Given the description of an element on the screen output the (x, y) to click on. 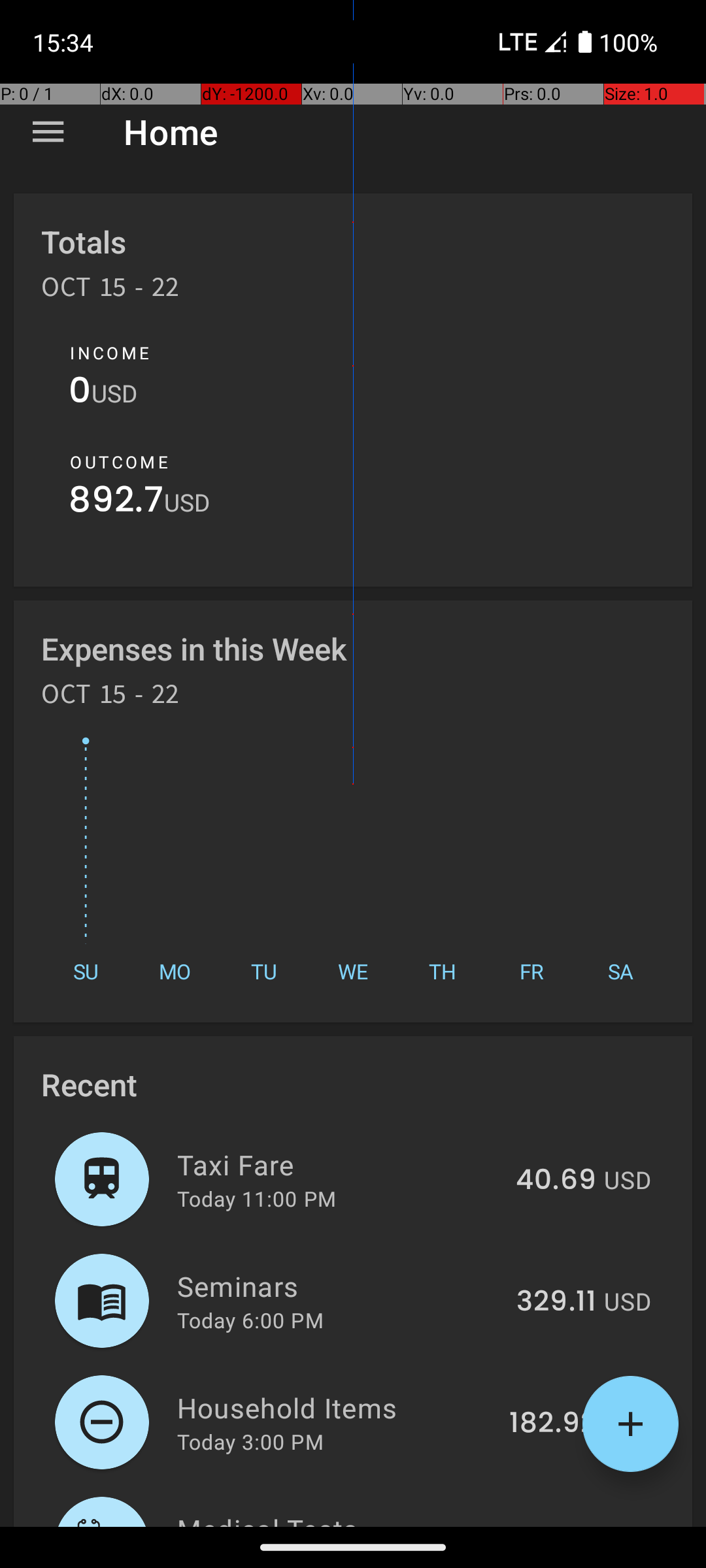
892.7 Element type: android.widget.TextView (116, 502)
Taxi Fare Element type: android.widget.TextView (338, 1164)
Today 11:00 PM Element type: android.widget.TextView (256, 1198)
40.69 Element type: android.widget.TextView (555, 1180)
Seminars Element type: android.widget.TextView (339, 1285)
329.11 Element type: android.widget.TextView (555, 1301)
Household Items Element type: android.widget.TextView (335, 1407)
Today 3:00 PM Element type: android.widget.TextView (250, 1441)
182.92 Element type: android.widget.TextView (552, 1423)
Medical Tests Element type: android.widget.TextView (330, 1518)
339.98 Element type: android.widget.TextView (547, 1524)
